Given the description of an element on the screen output the (x, y) to click on. 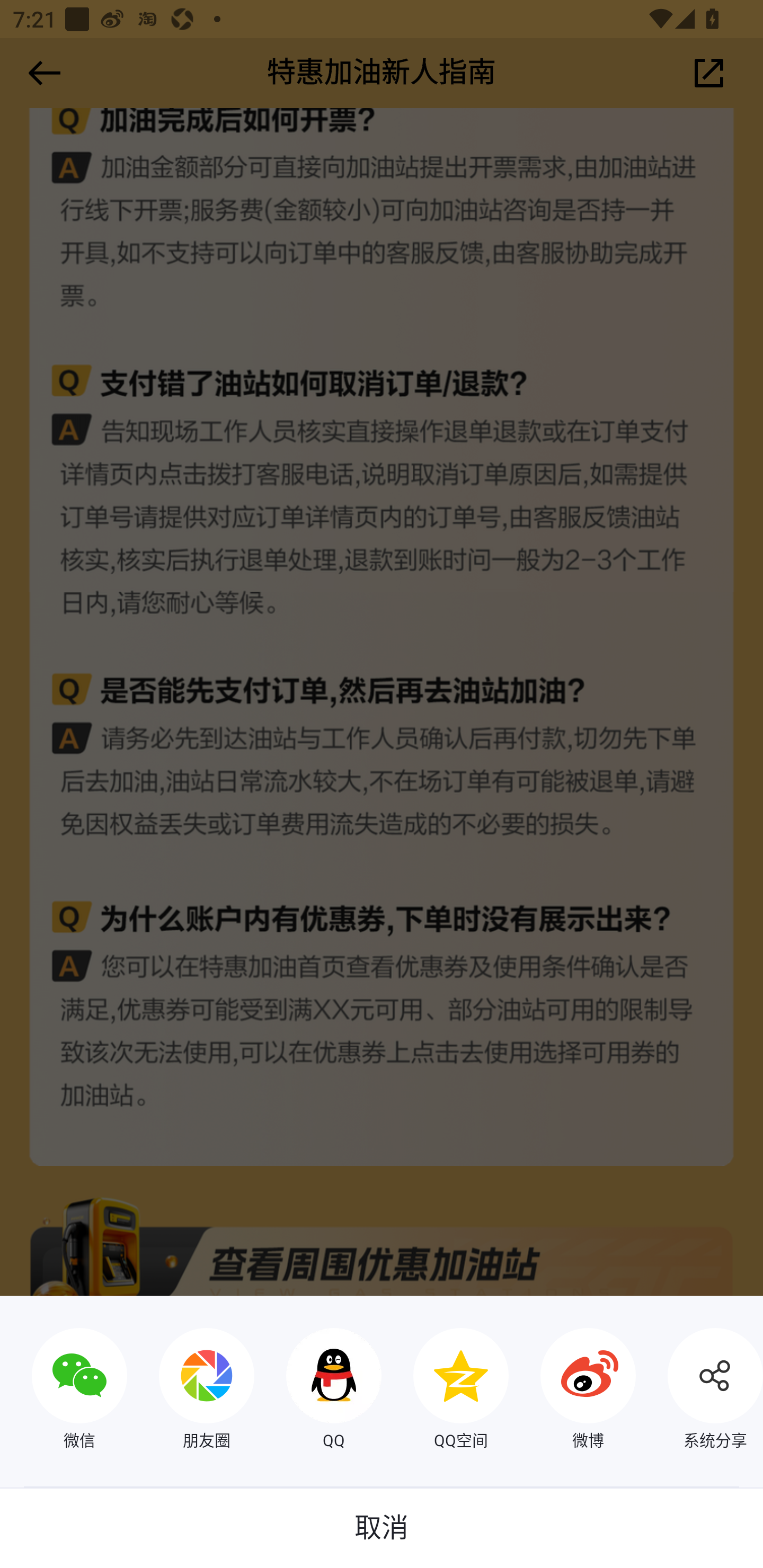
微信 (63, 1390)
朋友圈 (190, 1390)
QQ (317, 1390)
QQ空间 (444, 1390)
微博 (571, 1390)
系统分享 (699, 1390)
取消 (381, 1528)
